Given the description of an element on the screen output the (x, y) to click on. 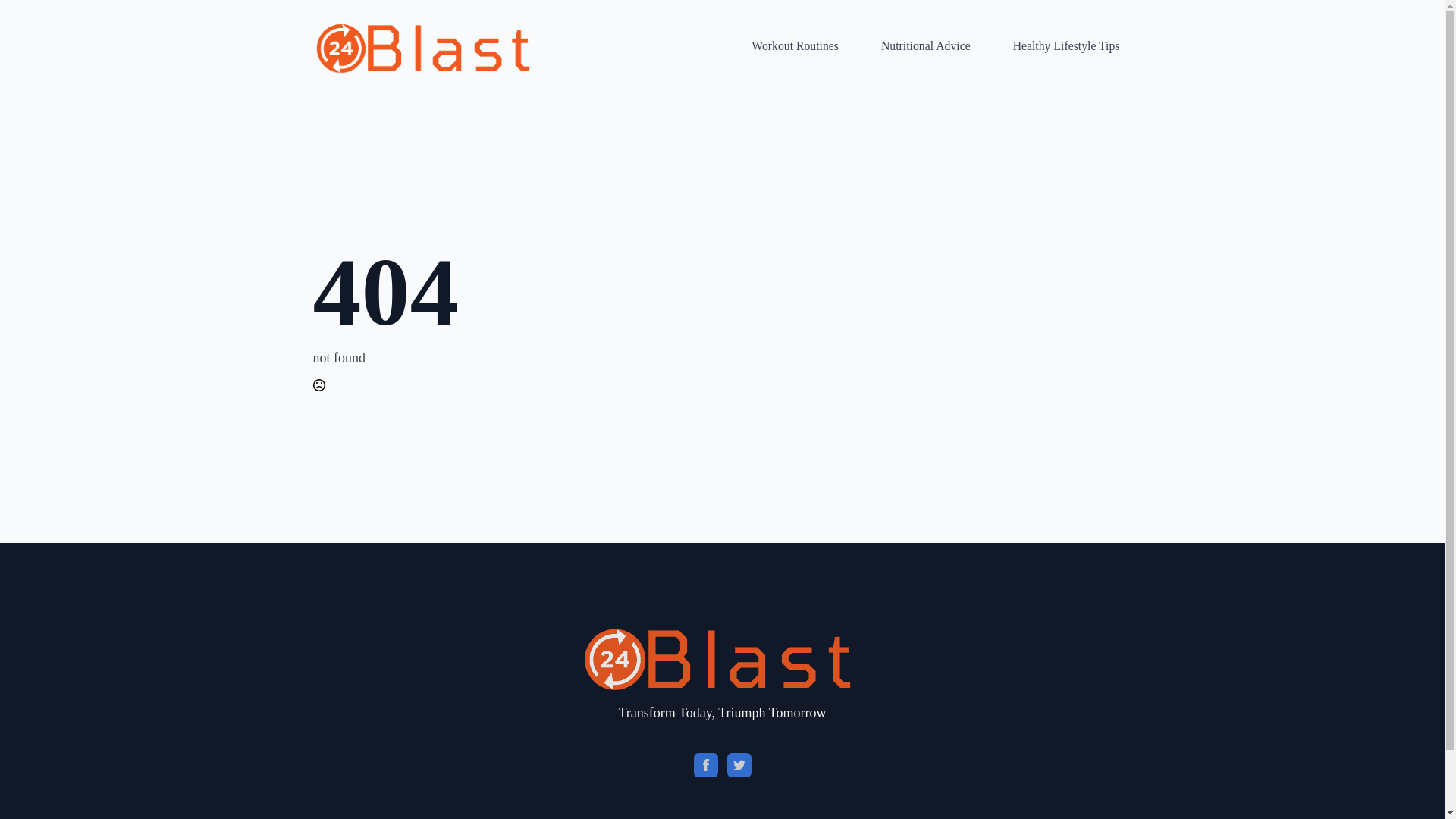
Workout Routines Element type: text (794, 46)
Nutritional Advice Element type: text (925, 46)
Healthy Lifestyle Tips Element type: text (1066, 46)
